Given the description of an element on the screen output the (x, y) to click on. 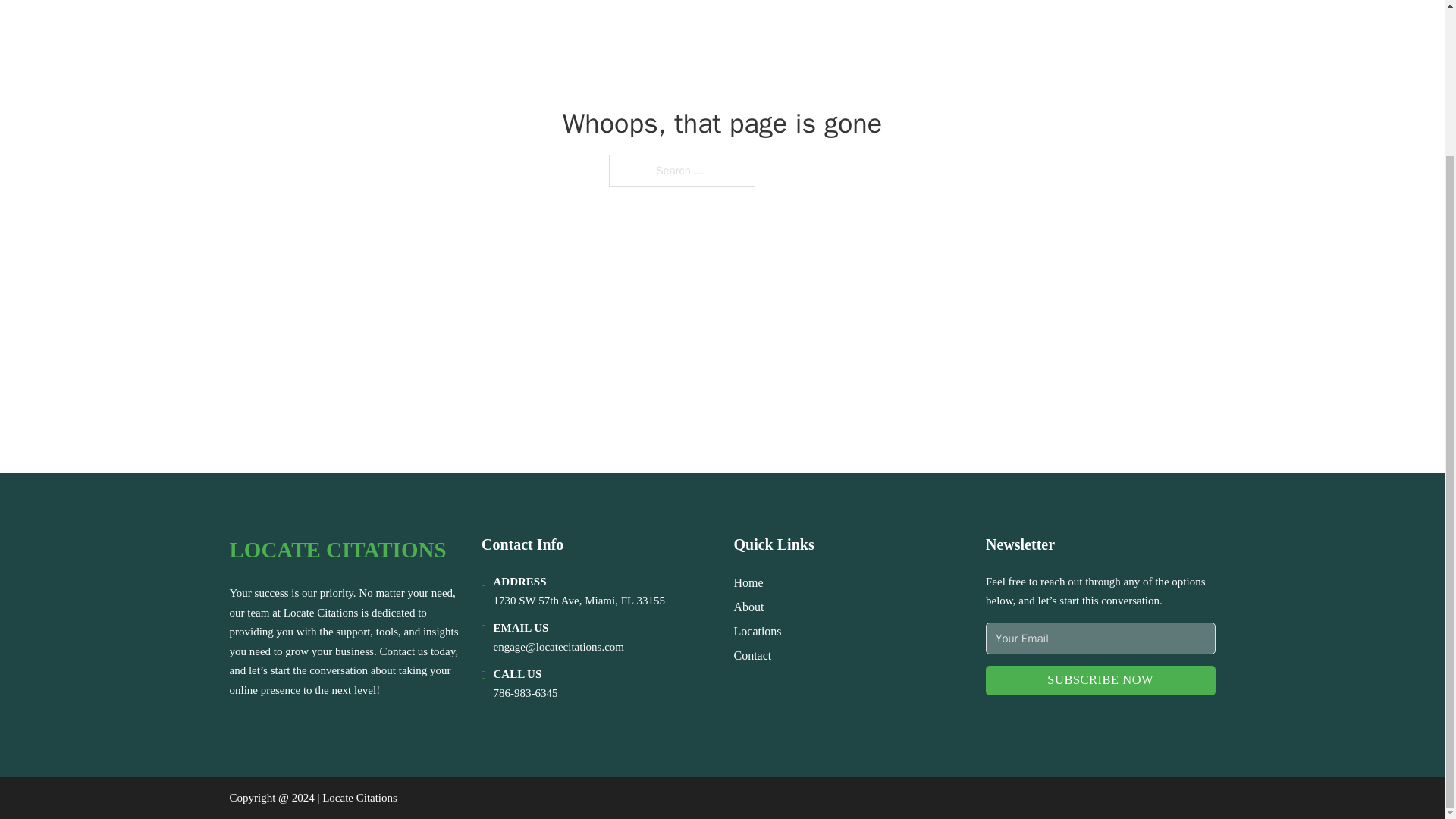
Locations (757, 630)
Home (747, 582)
786-983-6345 (525, 693)
LOCATE CITATIONS (336, 549)
SUBSCRIBE NOW (1100, 680)
Contact (752, 655)
About (748, 607)
